Given the description of an element on the screen output the (x, y) to click on. 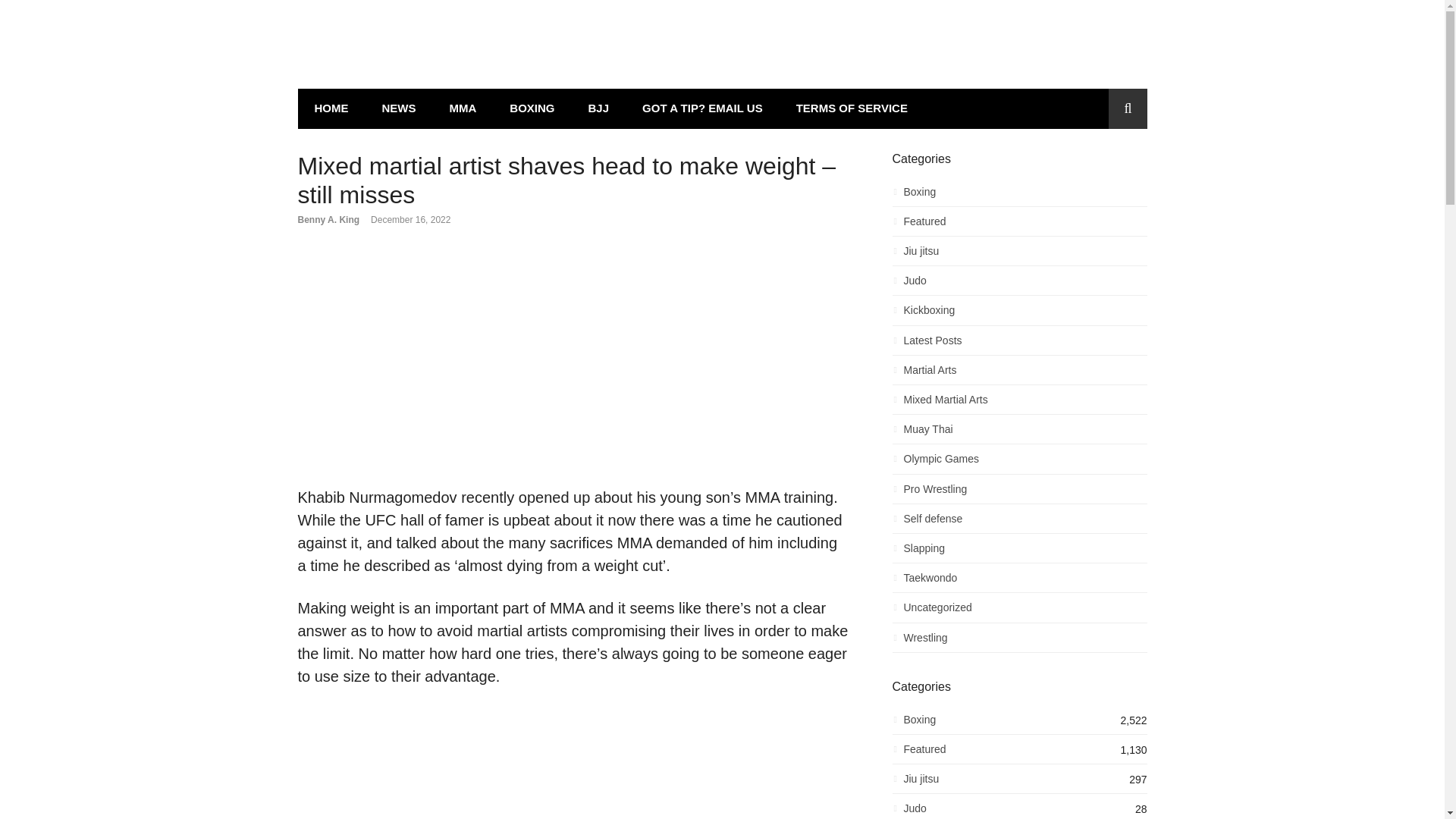
Olympic Games (1019, 463)
TERMS OF SERVICE (851, 108)
BJJ (599, 108)
Martial Arts (1019, 373)
Judo (1019, 284)
Kickboxing (1019, 314)
Benny A. King (328, 219)
HOME (331, 108)
NEWS (398, 108)
Mixed Martial Arts (1019, 403)
